Given the description of an element on the screen output the (x, y) to click on. 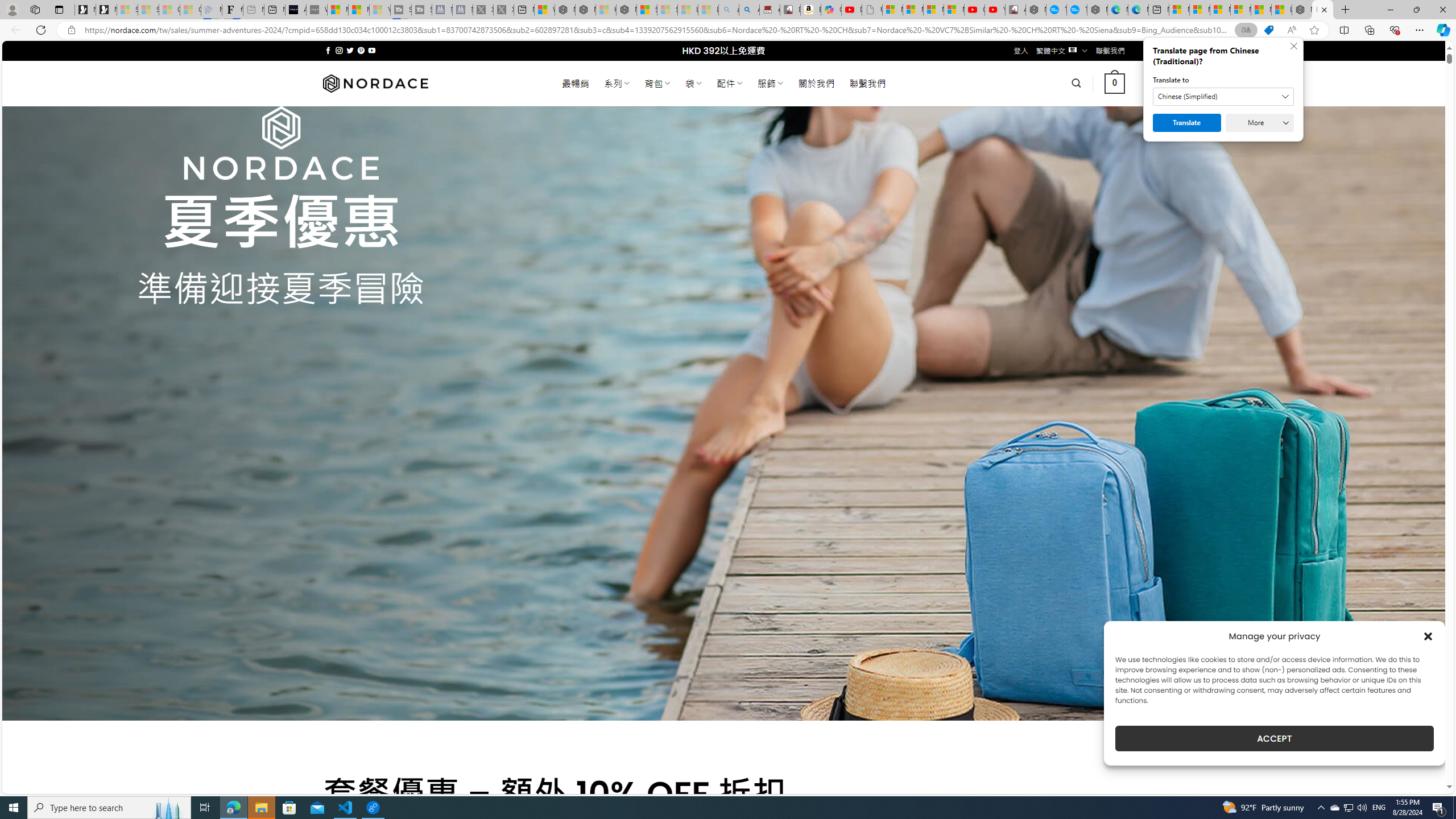
What's the best AI voice generator? - voice.ai - Sleeping (316, 9)
